Given the description of an element on the screen output the (x, y) to click on. 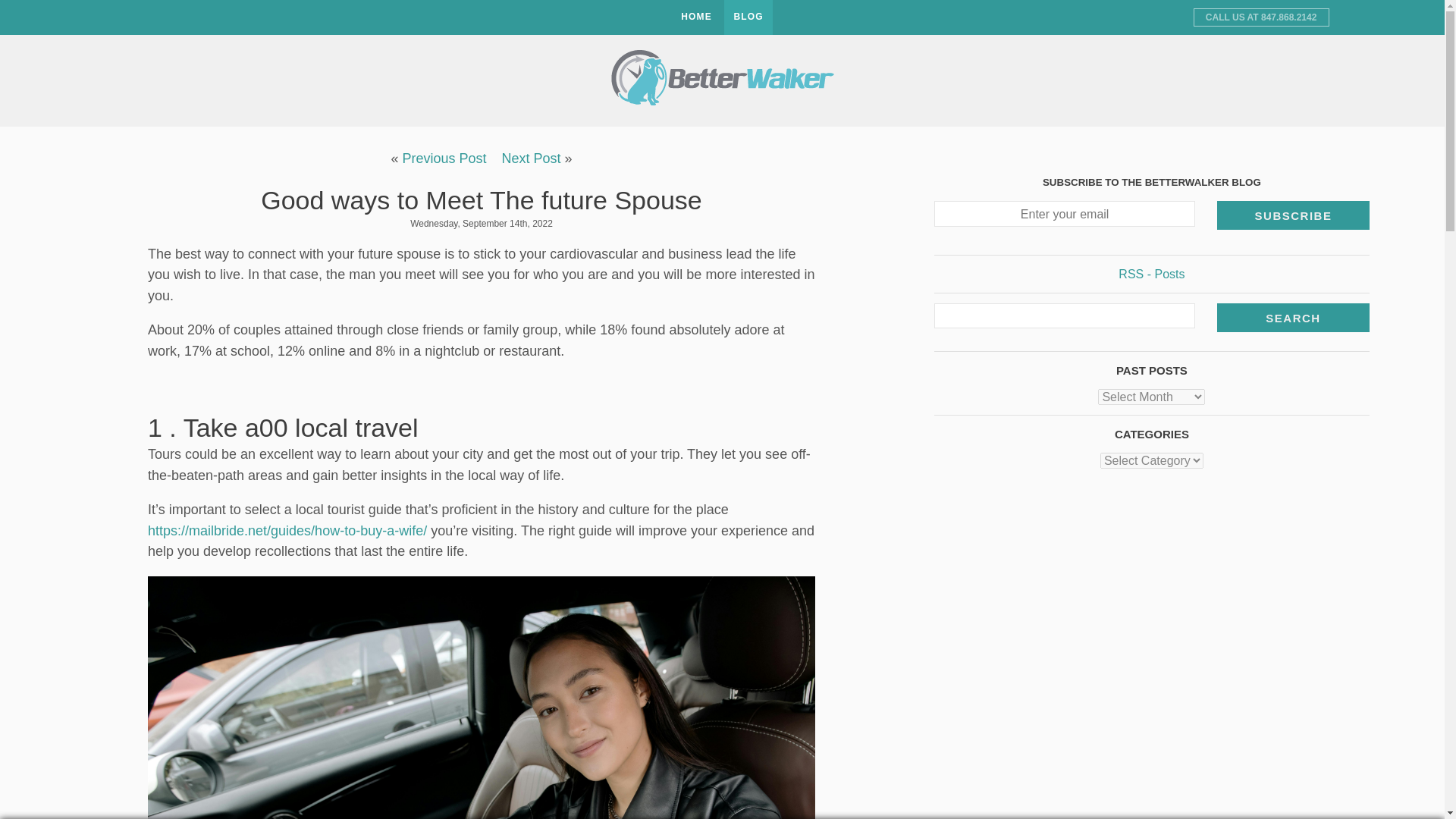
Subscribe (1293, 215)
Previous Post (443, 158)
RSS - Posts (1151, 273)
HOME (695, 17)
BLOG (747, 17)
Subscribe (1293, 215)
Search (1293, 317)
Search (1293, 317)
Next Post (531, 158)
CALL US AT 847.868.2142 (1261, 17)
